Given the description of an element on the screen output the (x, y) to click on. 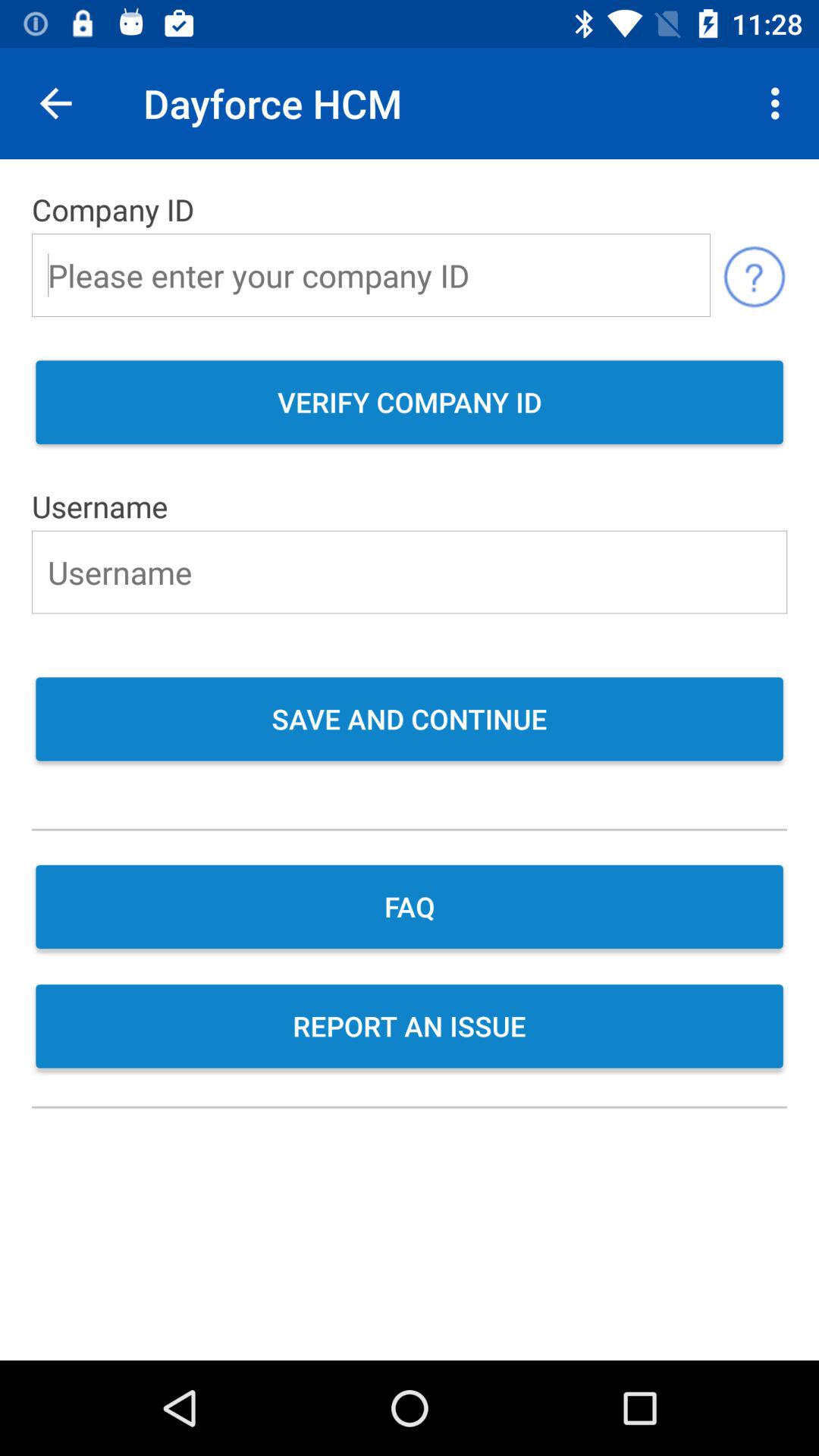
tap item to the right of the dayforce hcm item (779, 103)
